Given the description of an element on the screen output the (x, y) to click on. 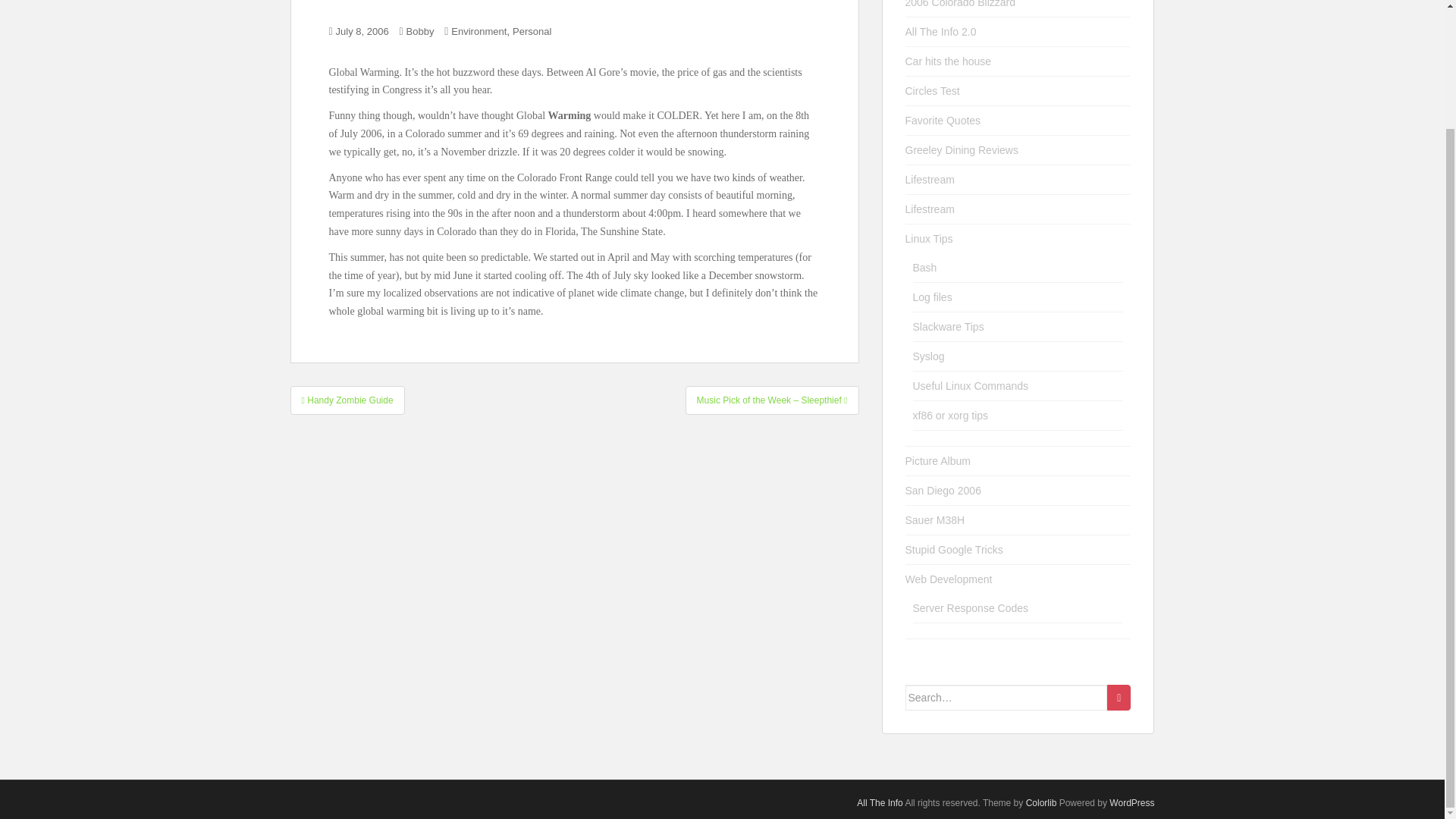
Bobby (419, 30)
Greeley Dining Reviews (961, 150)
WordPress (1131, 802)
Web Development (948, 579)
xf86 or xorg tips (950, 415)
Search for: (1006, 697)
Car hits the house (948, 61)
Log files (932, 297)
Syslog (928, 356)
Favorite Quotes (943, 120)
All The Info (879, 802)
Lifestream (930, 209)
Server Response Codes (970, 607)
Stupid Google Tricks (954, 549)
Handy Zombie Guide (346, 399)
